Given the description of an element on the screen output the (x, y) to click on. 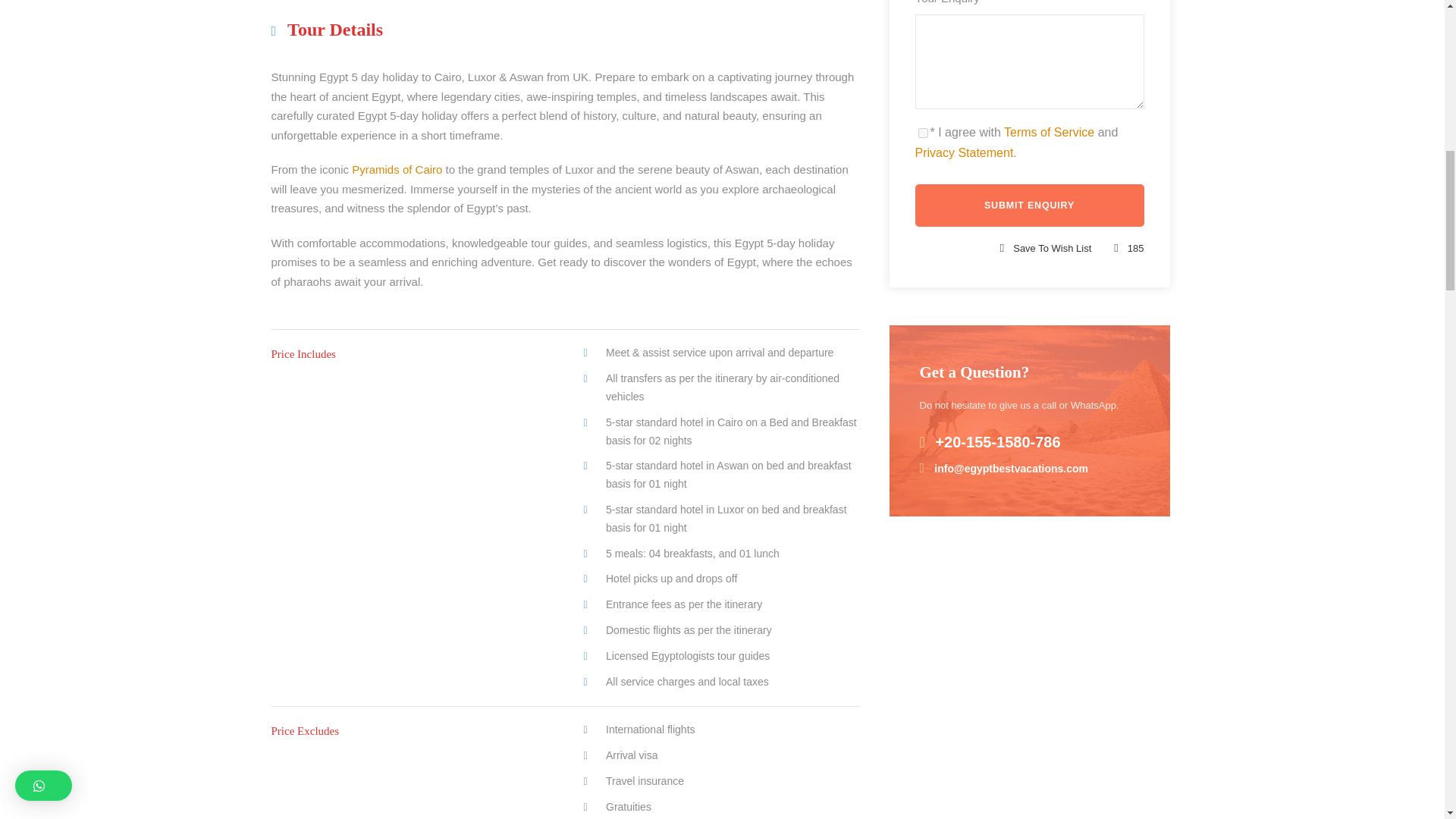
on (922, 132)
Submit Enquiry (1028, 205)
